Given the description of an element on the screen output the (x, y) to click on. 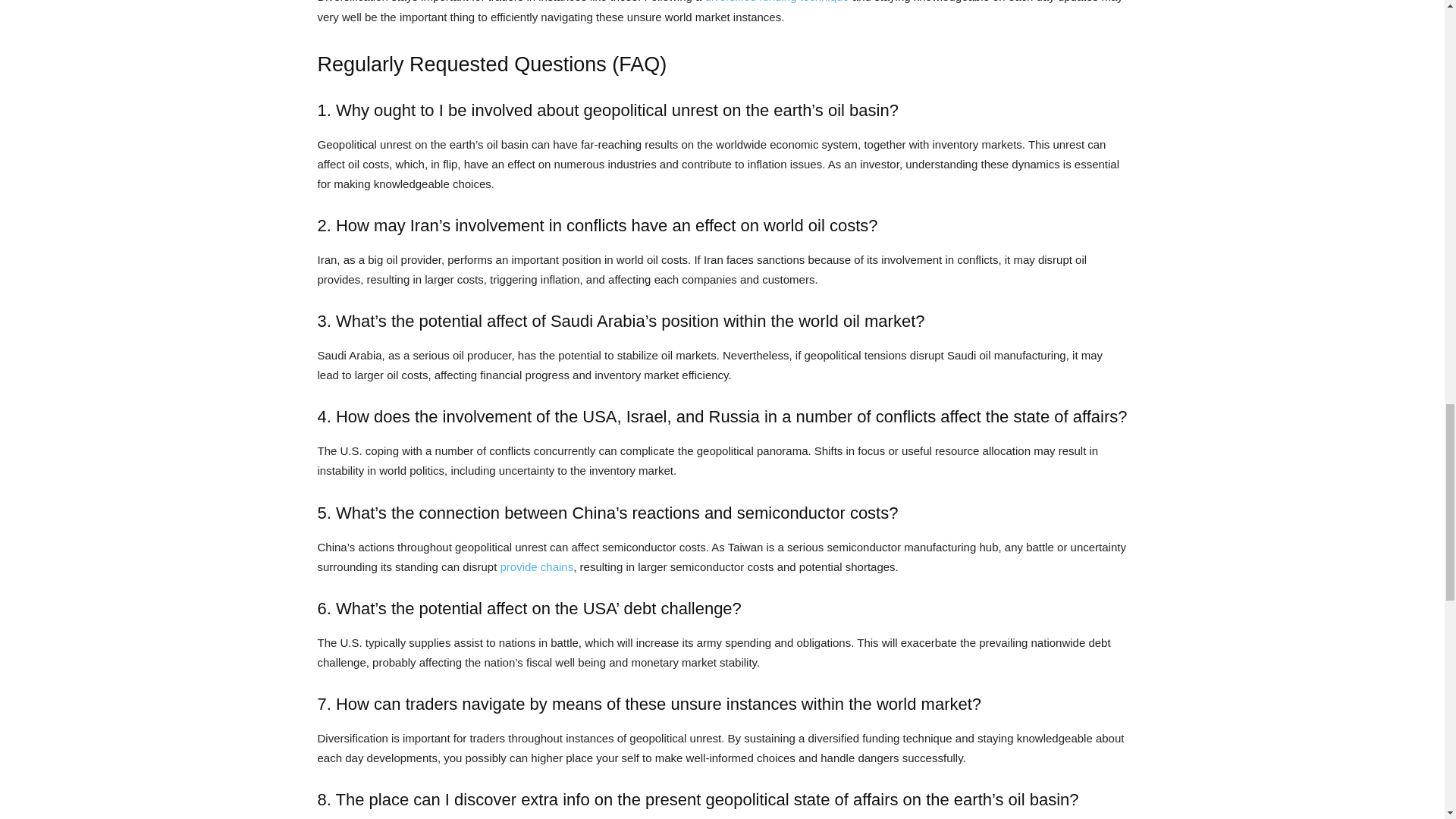
provide chains (536, 566)
diversified funding technique (776, 1)
